Given the description of an element on the screen output the (x, y) to click on. 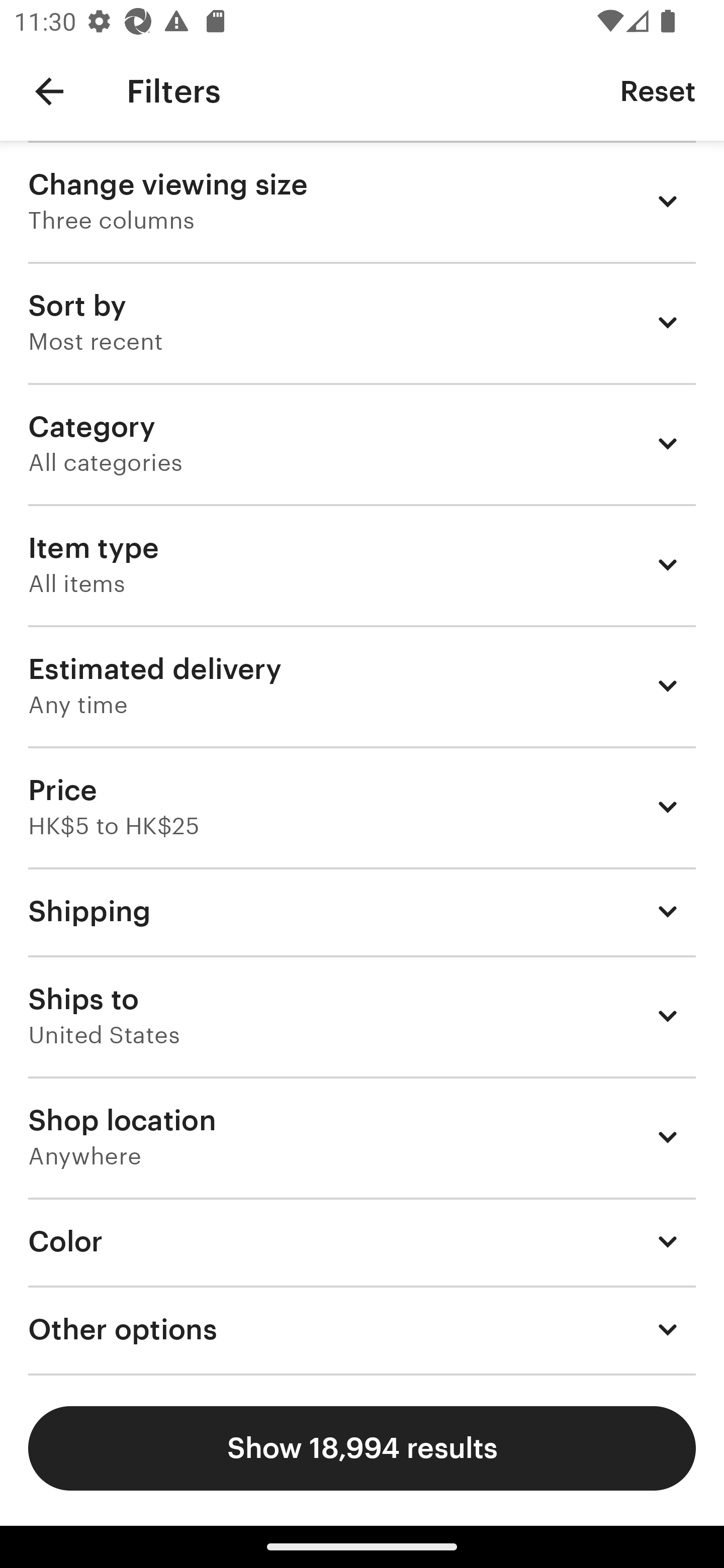
Navigate up (49, 91)
Reset (657, 90)
Change viewing size Three columns (362, 201)
Sort by Most recent (362, 321)
Category All categories (362, 442)
Item type All items (362, 564)
Estimated delivery Any time (362, 685)
Price HK$5 to HK$25 (362, 806)
Shipping (362, 910)
Ships to United States (362, 1015)
Shop location Anywhere (362, 1137)
Color (362, 1241)
Other options (362, 1329)
Show 18,994 results Show results (361, 1448)
